Given the description of an element on the screen output the (x, y) to click on. 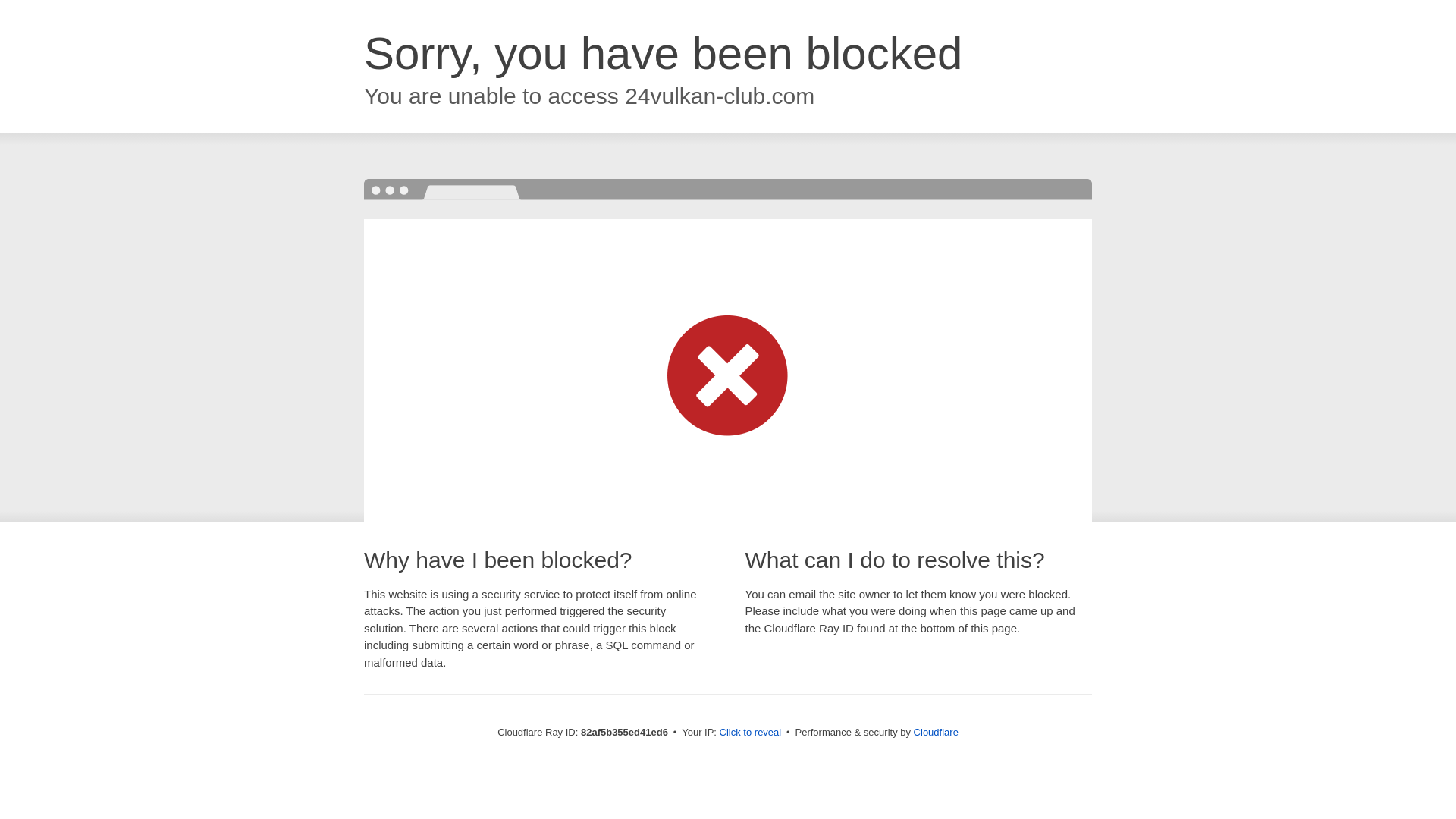
Cloudflare Element type: text (935, 731)
Click to reveal Element type: text (750, 732)
